Given the description of an element on the screen output the (x, y) to click on. 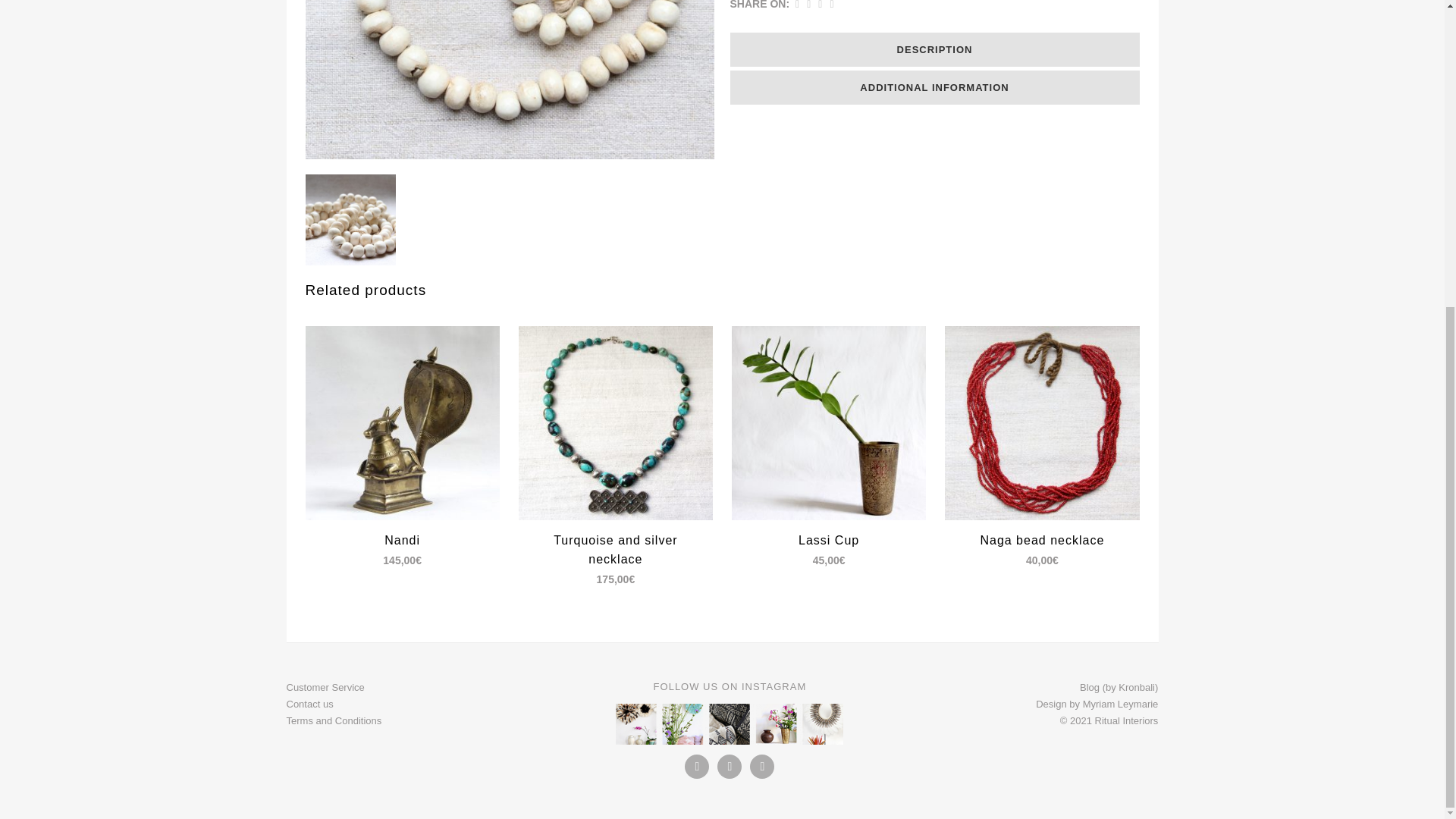
conch-shell-necklace-ritual-interiors (350, 219)
conch-shell-necklace-ritual-interiors (509, 79)
